Given the description of an element on the screen output the (x, y) to click on. 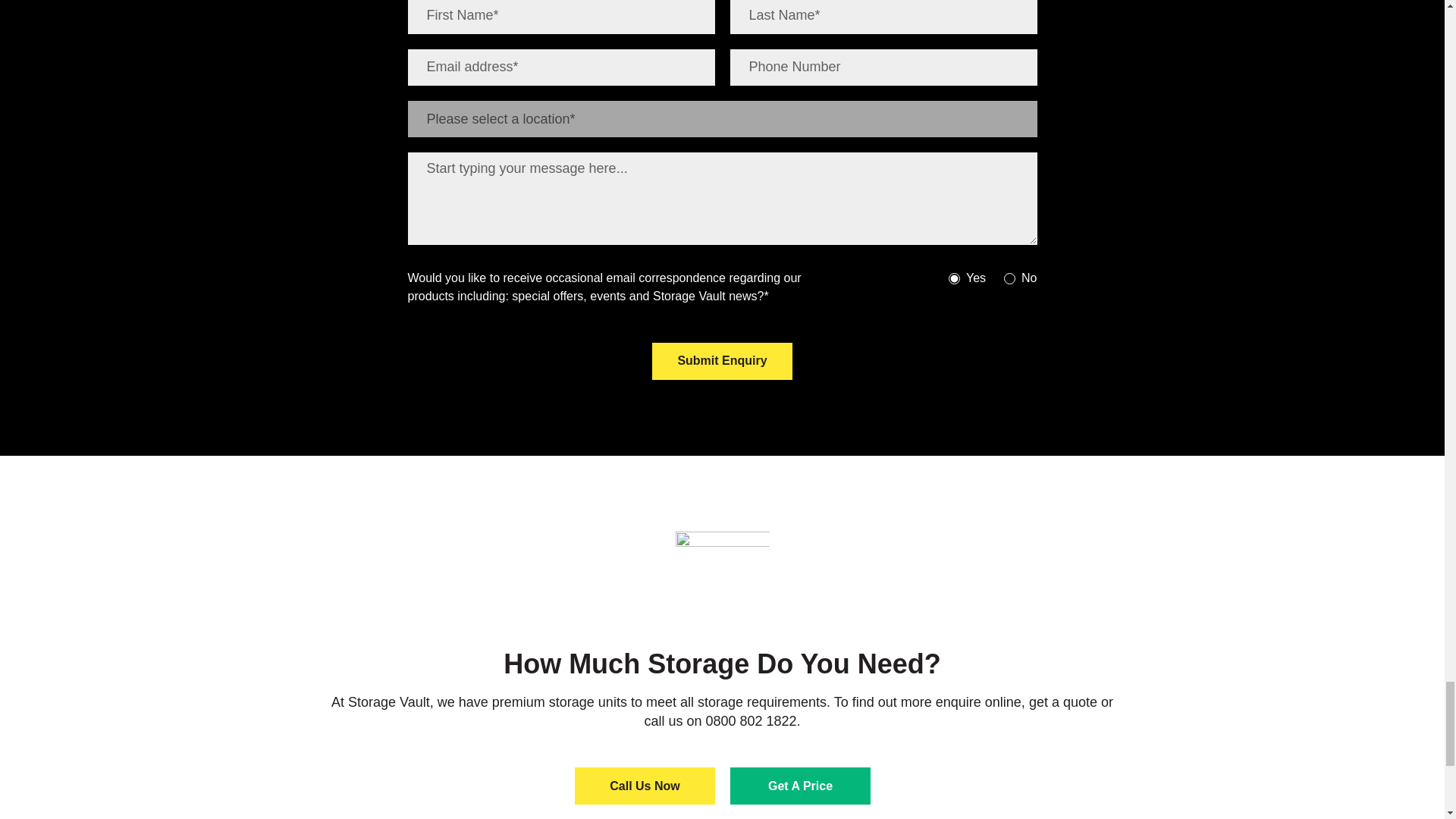
No (1009, 278)
Yes (954, 278)
Submit Enquiry (722, 361)
Locations-around-Scotland (721, 580)
